Given the description of an element on the screen output the (x, y) to click on. 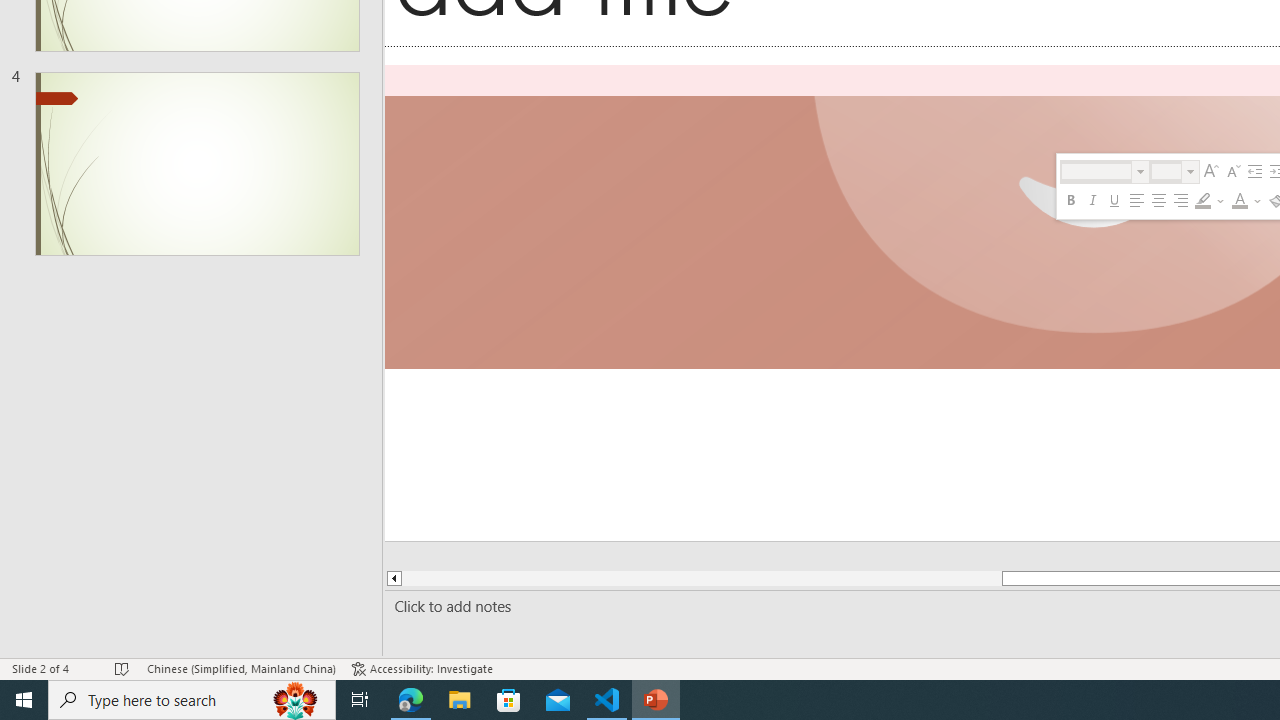
Class: NetUITextbox (1165, 171)
